Given the description of an element on the screen output the (x, y) to click on. 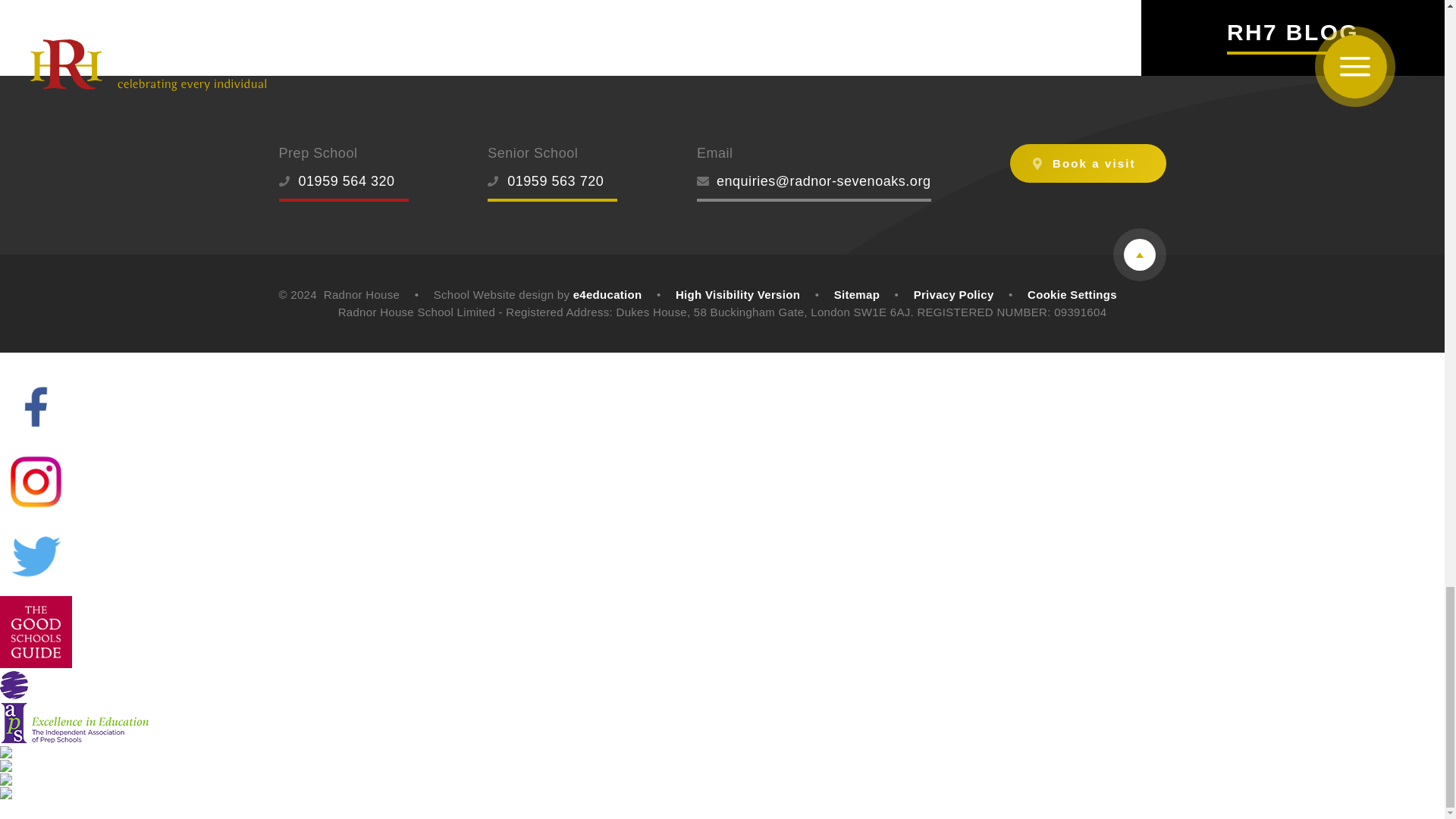
ISA (16, 753)
CEOP (23, 793)
Instagram (35, 481)
IAPS (74, 706)
ISI (13, 766)
Cookie Settings (1071, 294)
Good Schools Guide (35, 632)
Twitter (35, 556)
Round Square (45, 780)
Facebook (35, 407)
